Given the description of an element on the screen output the (x, y) to click on. 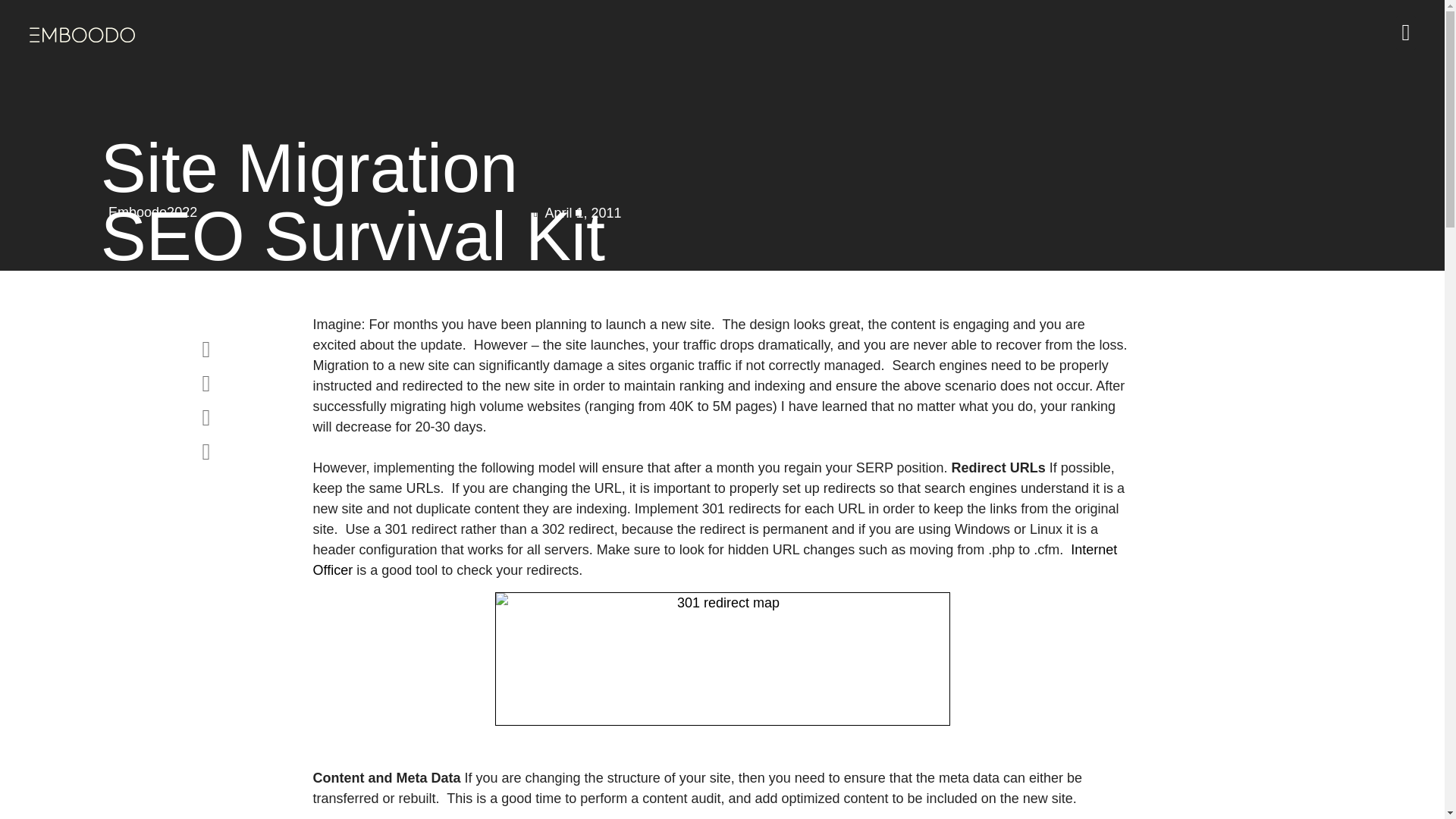
Internet Officer (714, 560)
redirect map (722, 658)
